Given the description of an element on the screen output the (x, y) to click on. 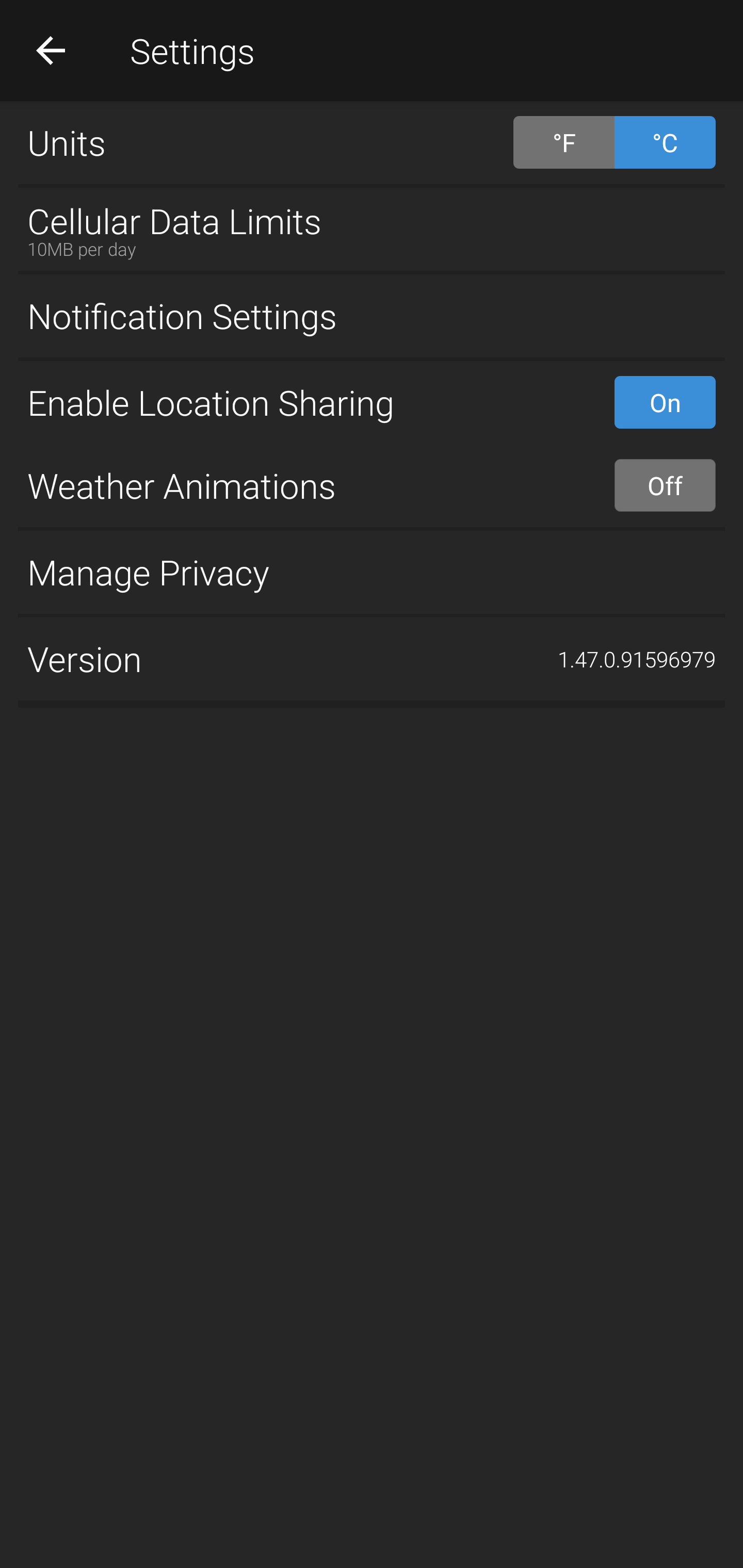
Navigate up (50, 50)
°F (563, 142)
°C (664, 142)
Cellular Data Limits 10MB per day (371, 229)
Notification Settings (371, 315)
Enable Location Sharing On (371, 401)
On (664, 402)
Weather Animations Off (371, 484)
Off (664, 485)
Manage Privacy (371, 571)
1.47.0.91596979 (636, 658)
